Given the description of an element on the screen output the (x, y) to click on. 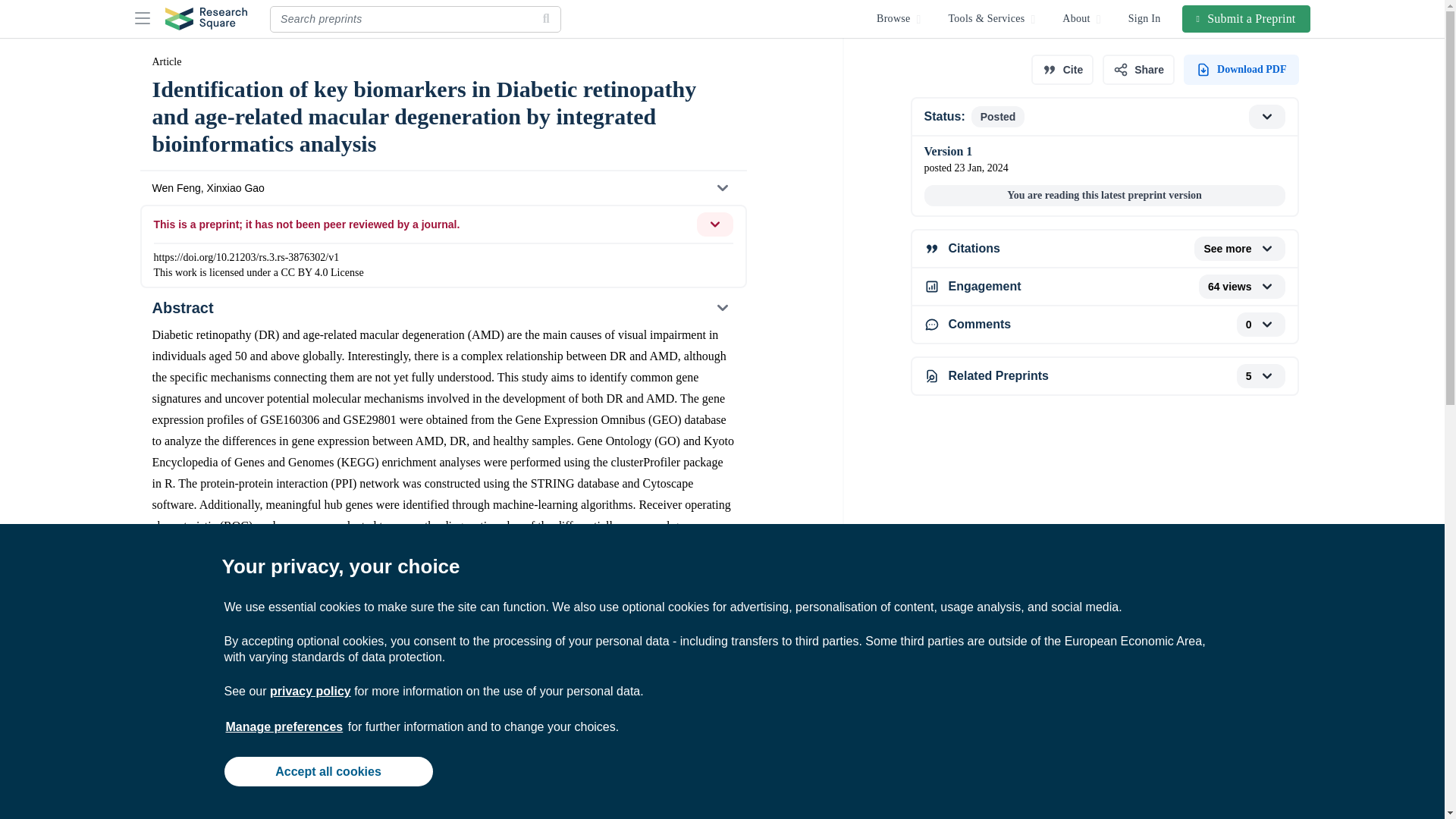
RESULT (442, 741)
Abstract (442, 307)
Wen Feng, Xinxiao Gao (442, 187)
Sign In (1144, 18)
Discussion (442, 776)
Submit a Preprint (1246, 18)
Introduction (442, 706)
Method (442, 806)
Figures (442, 671)
